Given the description of an element on the screen output the (x, y) to click on. 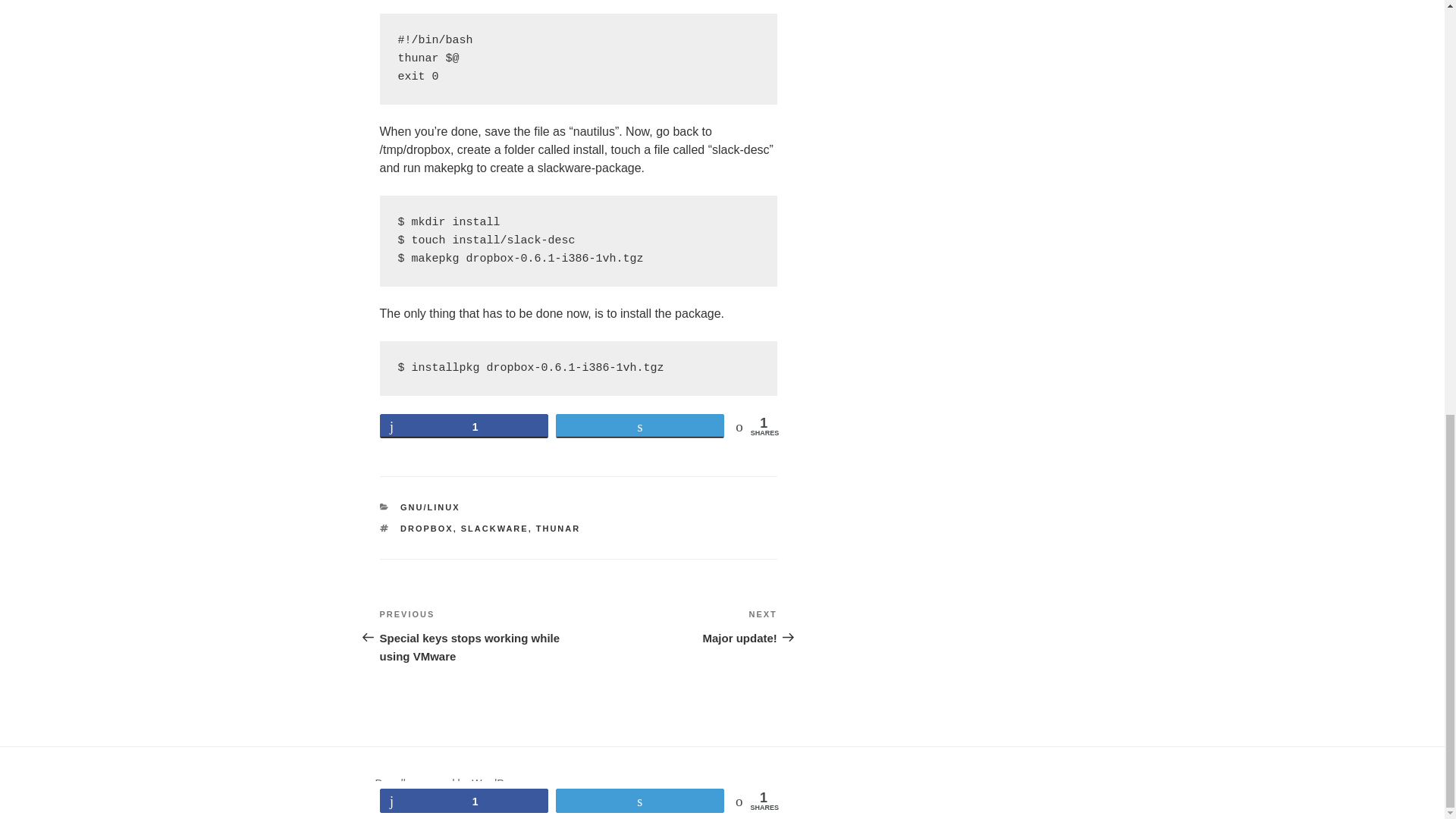
THUNAR (557, 528)
Proudly powered by WordPress (449, 783)
DROPBOX (426, 528)
1 (463, 425)
SLACKWARE (494, 528)
